Given the description of an element on the screen output the (x, y) to click on. 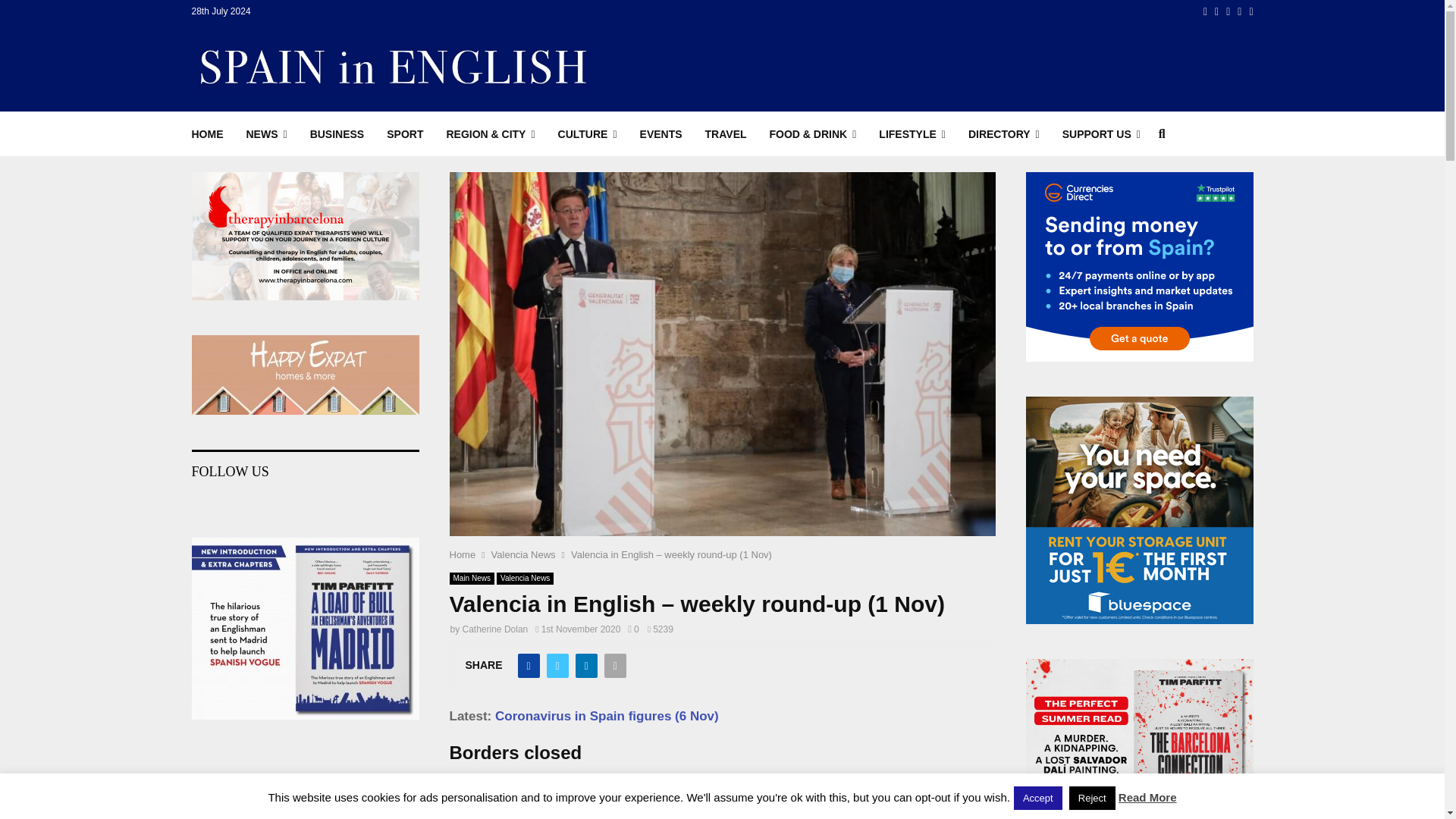
Twitter (1216, 11)
BUSINESS (337, 134)
Sign up new account (722, 527)
EVENTS (661, 134)
Youtube (1250, 11)
Twitter (1216, 11)
TRAVEL (725, 134)
CULTURE (587, 134)
Login to your account (722, 293)
SPORT (405, 134)
Facebook (1205, 11)
Facebook (1205, 11)
HOME (206, 134)
Linkedin (1239, 11)
LIFESTYLE (911, 134)
